Given the description of an element on the screen output the (x, y) to click on. 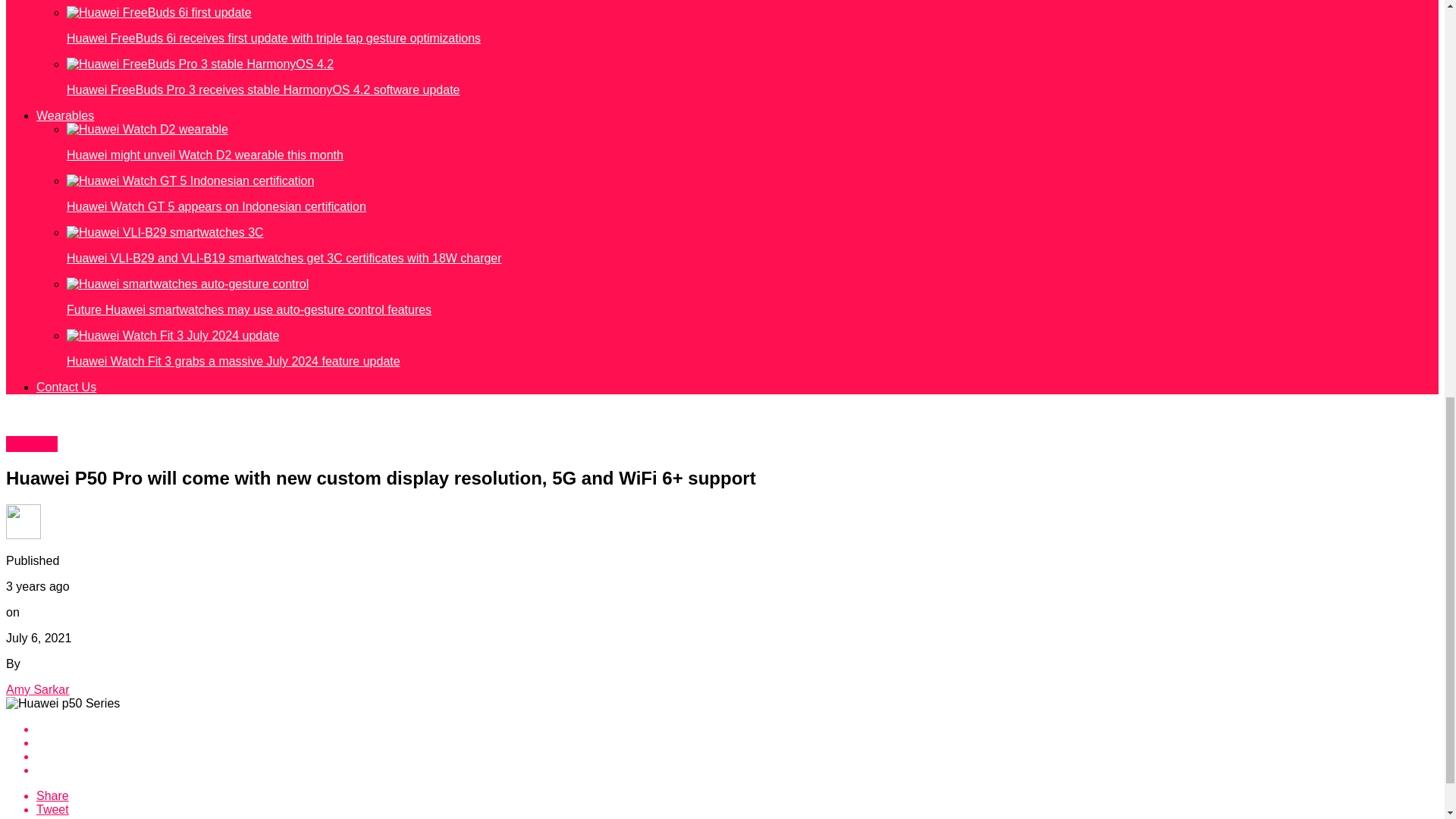
Posts by Amy Sarkar (37, 689)
